Given the description of an element on the screen output the (x, y) to click on. 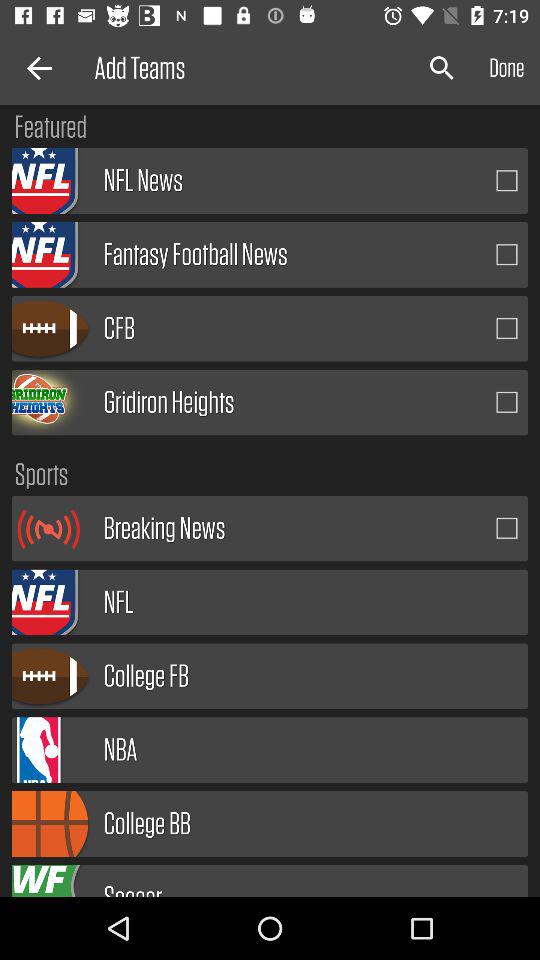
open the item to the right of add teams item (441, 67)
